Given the description of an element on the screen output the (x, y) to click on. 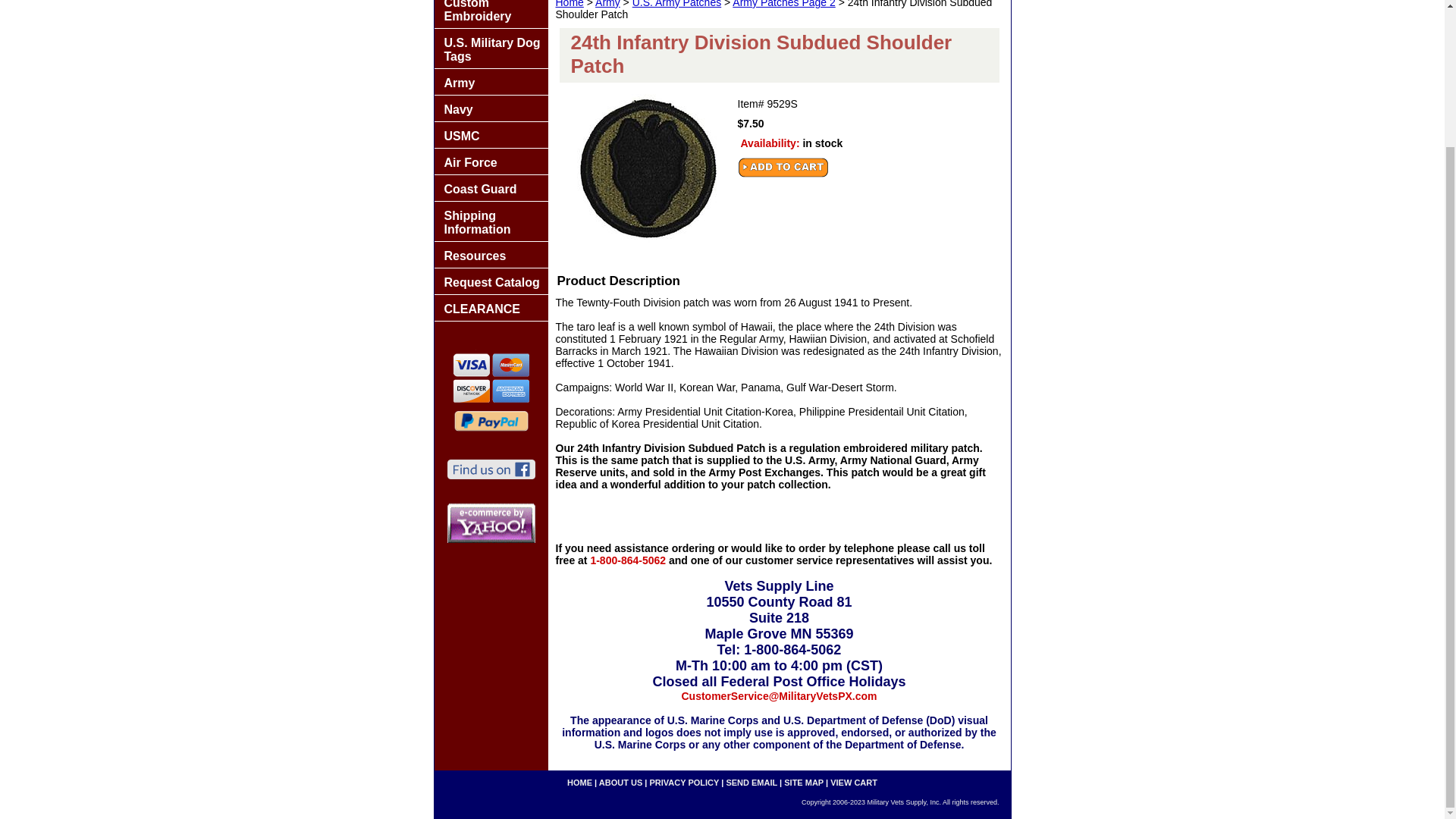
USMC (490, 135)
Request Catalog (490, 281)
Coast Guard (490, 188)
Army (490, 81)
SEND EMAIL (751, 782)
U.S. Military Dog Tags (490, 48)
Home (568, 4)
Air Force (490, 161)
Army Patches Page 2 (783, 4)
Request Catalog (490, 281)
Shipping Information (490, 221)
Custom Embroidery (490, 14)
Navy (490, 108)
Shipping Information (490, 221)
U.S. Military Dog Tags (490, 48)
